Given the description of an element on the screen output the (x, y) to click on. 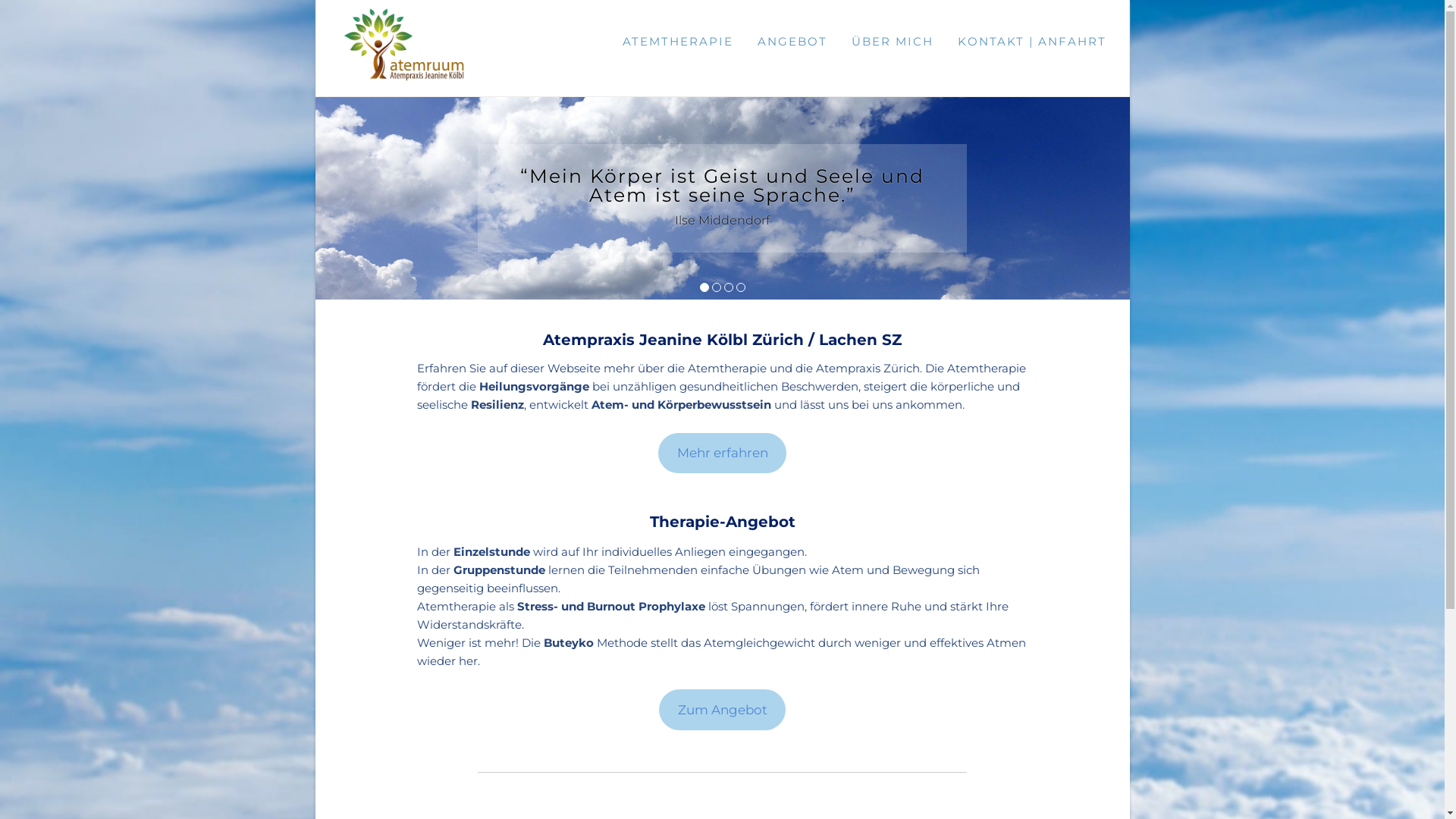
4 Element type: text (740, 287)
2 Element type: text (715, 287)
ATEMTHERAPIE Element type: text (676, 42)
1 Element type: text (703, 287)
Zum Angebot Element type: text (721, 709)
KONTAKT | ANFAHRT Element type: text (1030, 42)
Mehr erfahren Element type: text (722, 453)
ANGEBOT Element type: text (791, 42)
3 Element type: text (727, 287)
